Given the description of an element on the screen output the (x, y) to click on. 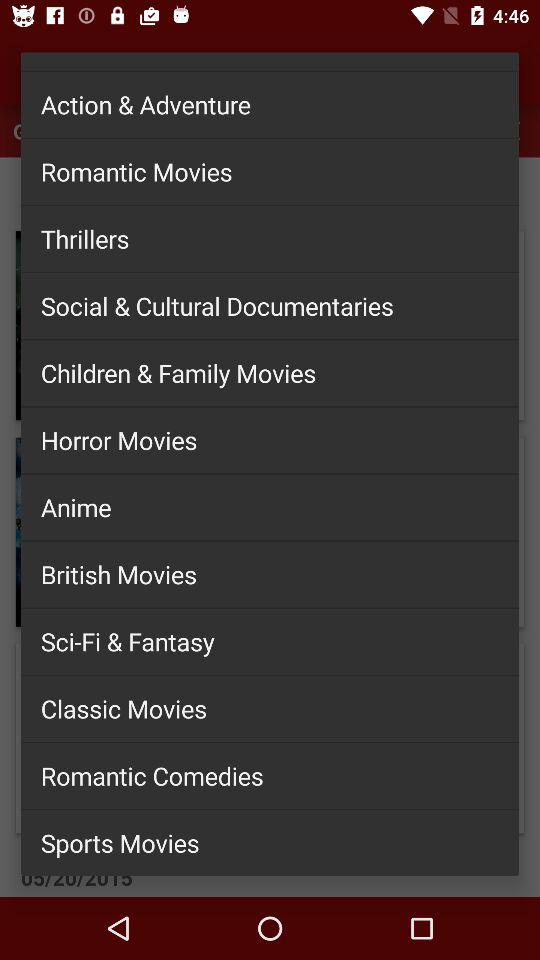
scroll until the    horror movies (269, 440)
